Given the description of an element on the screen output the (x, y) to click on. 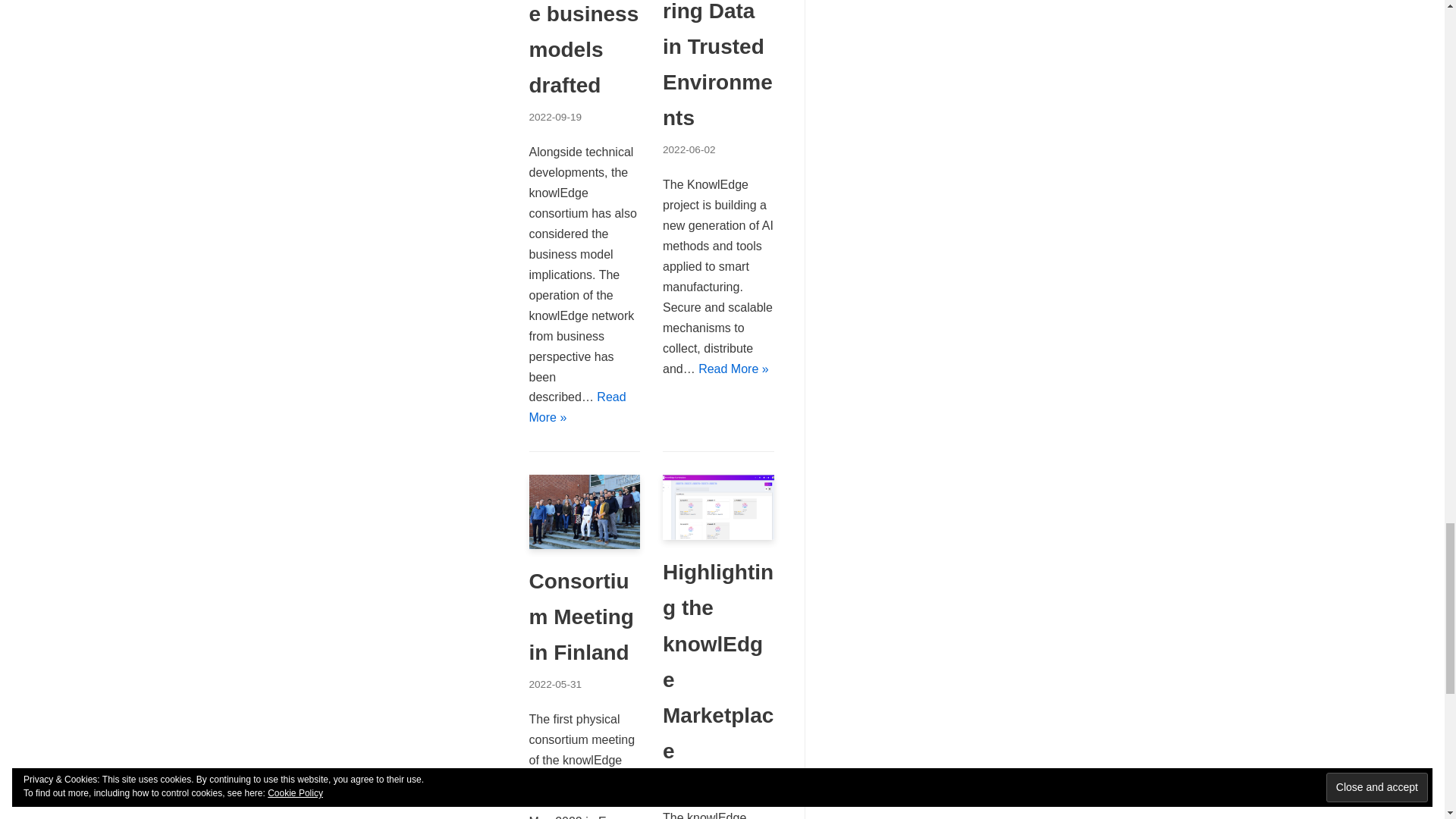
Consortium Meeting in Finland (584, 544)
Highlighting the knowlEdge Marketplace (718, 535)
